Given the description of an element on the screen output the (x, y) to click on. 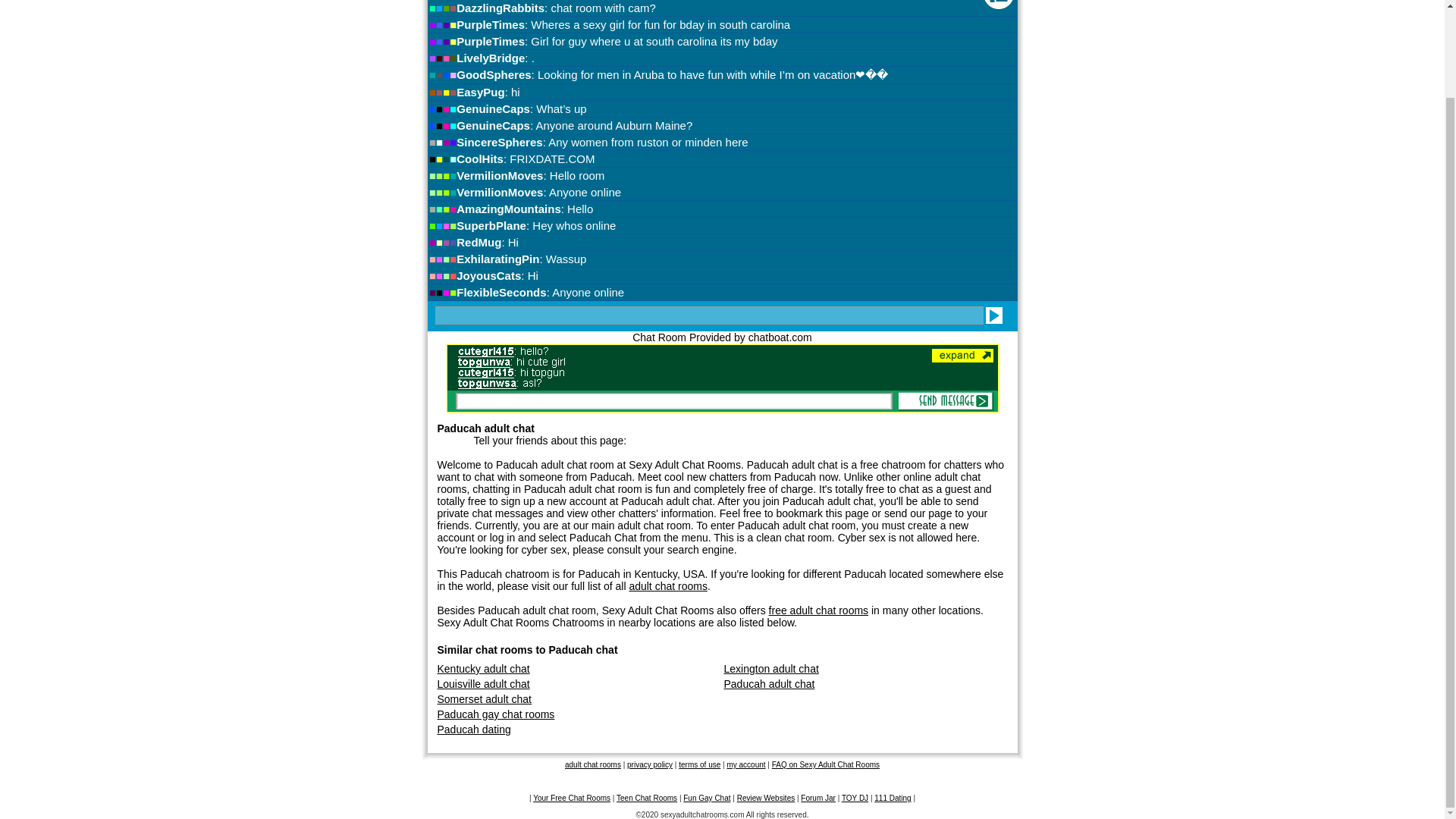
Fun Gay Chat (706, 797)
Louisville adult chat (482, 684)
Your Free Chat Rooms (571, 797)
Lexington adult chat (770, 668)
Forum Jar (817, 797)
Somerset adult chat (483, 698)
free adult chat rooms (818, 610)
FAQ on Sexy Adult Chat Rooms (825, 764)
Paducah dating (473, 729)
Paducah adult chat (768, 684)
Paducah gay chat rooms (495, 714)
TOY DJ (854, 797)
111 Dating (893, 797)
Teen Chat Rooms (646, 797)
adult chat rooms (592, 764)
